Given the description of an element on the screen output the (x, y) to click on. 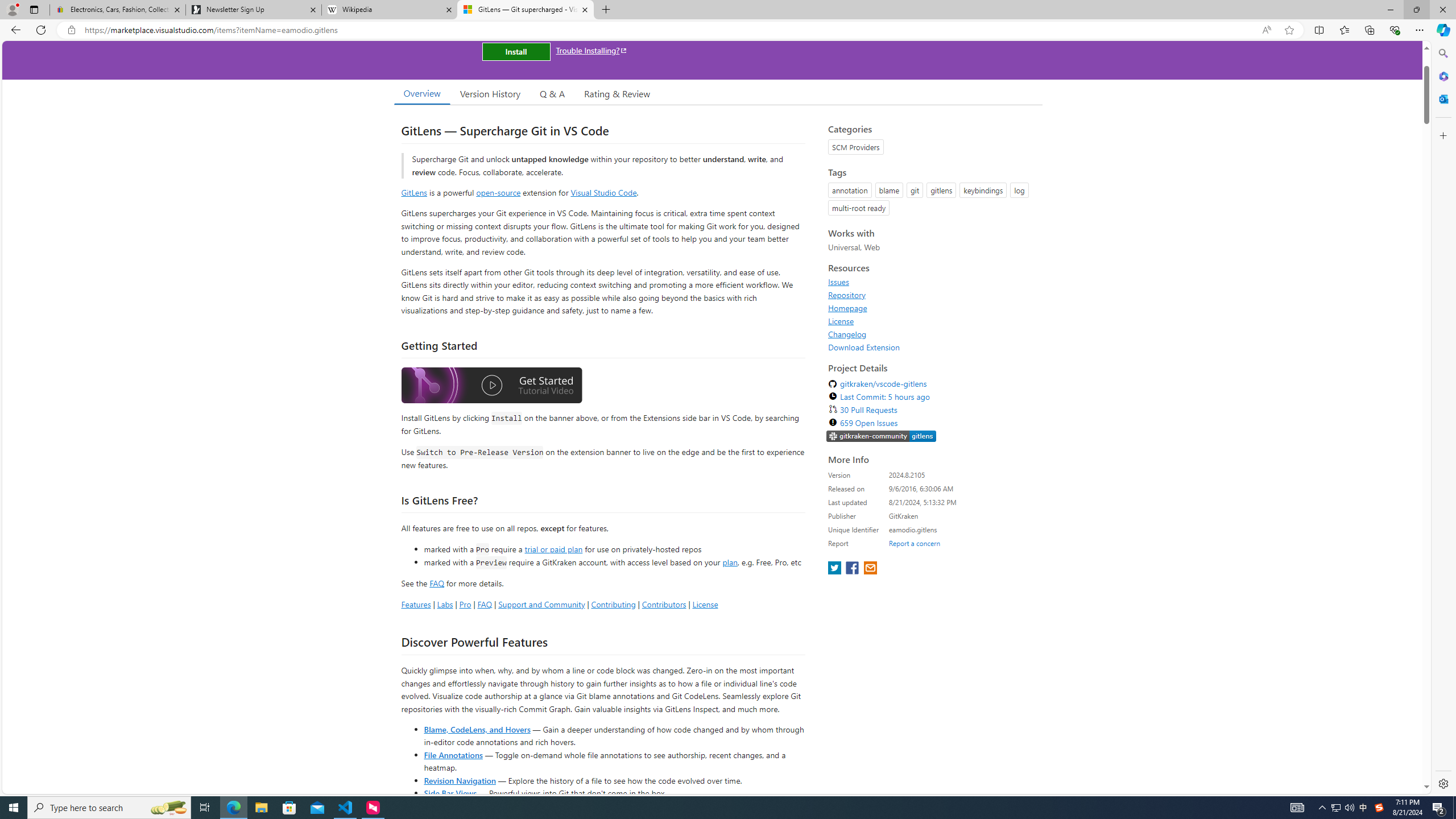
share extension on facebook (853, 568)
share extension on twitter (835, 568)
Report a concern (914, 542)
Watch the GitLens Getting Started video (491, 387)
License (840, 320)
Install (515, 51)
https://slack.gitkraken.com// (881, 436)
